Given the description of an element on the screen output the (x, y) to click on. 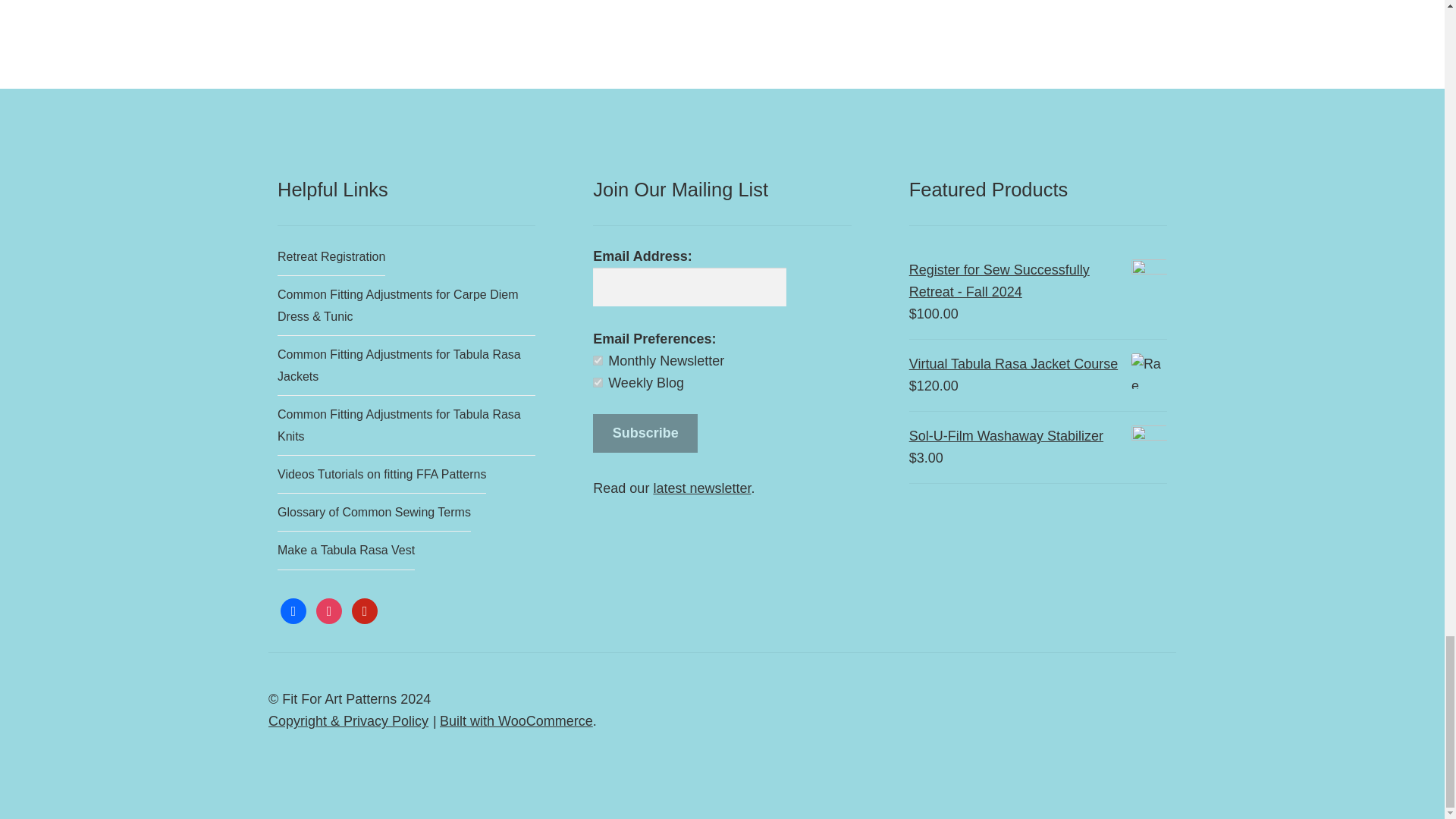
Instagram (328, 610)
2 (597, 382)
Facebook (293, 610)
1 (597, 360)
Subscribe (644, 433)
